Given the description of an element on the screen output the (x, y) to click on. 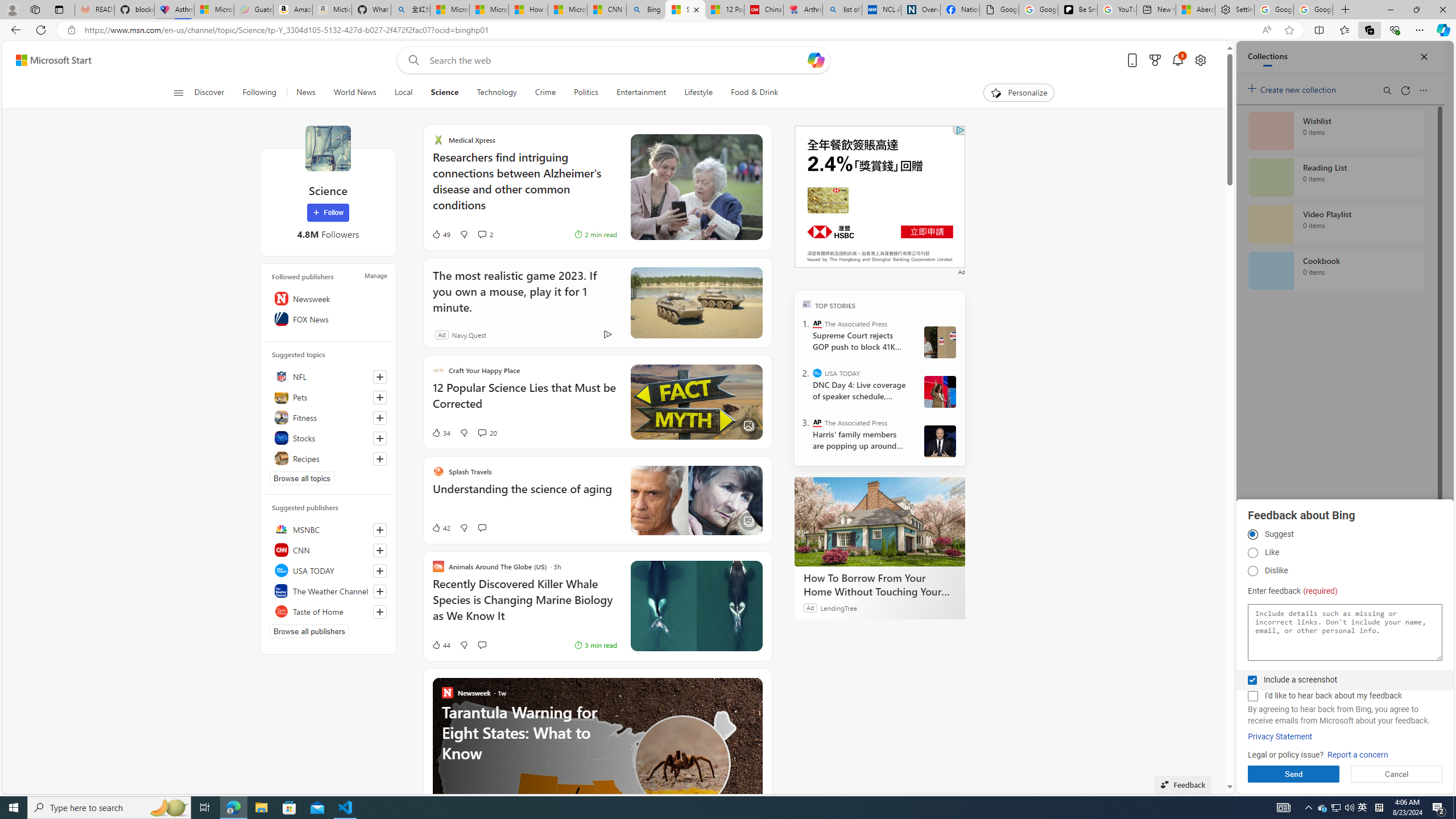
CNN - MSN (606, 9)
Dislike Dislike (1252, 570)
12 Popular Science Lies that Must be Corrected (724, 9)
Asthma Inhalers: Names and Types (174, 9)
Be Smart | creating Science videos | Patreon (1077, 9)
Bing (646, 9)
